Given the description of an element on the screen output the (x, y) to click on. 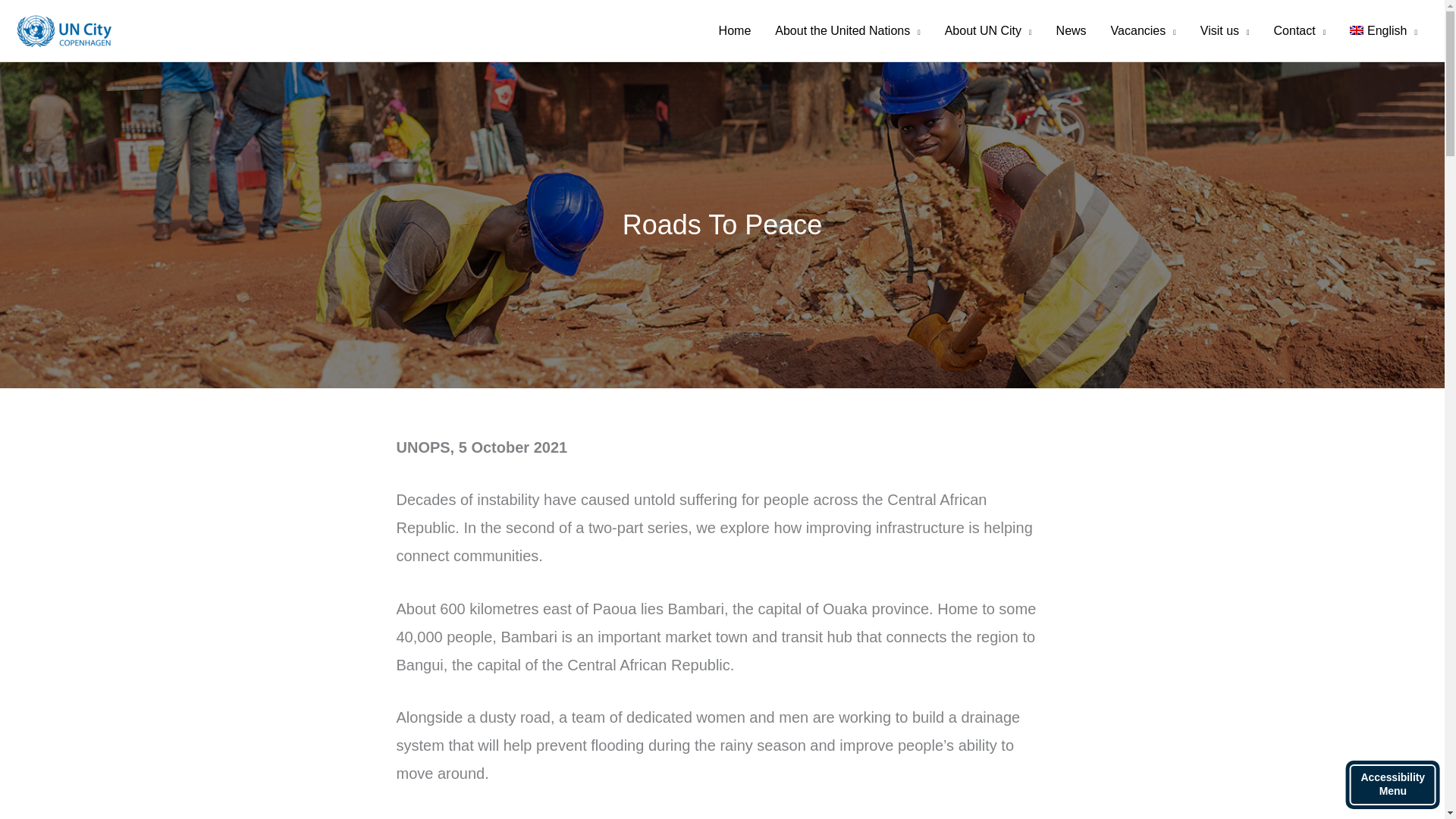
Visit us (1225, 30)
Accessibility Menu (1392, 784)
Vacancies (1143, 30)
About UN City (988, 30)
English (1383, 30)
About the United Nations (846, 30)
Home (734, 30)
